Given the description of an element on the screen output the (x, y) to click on. 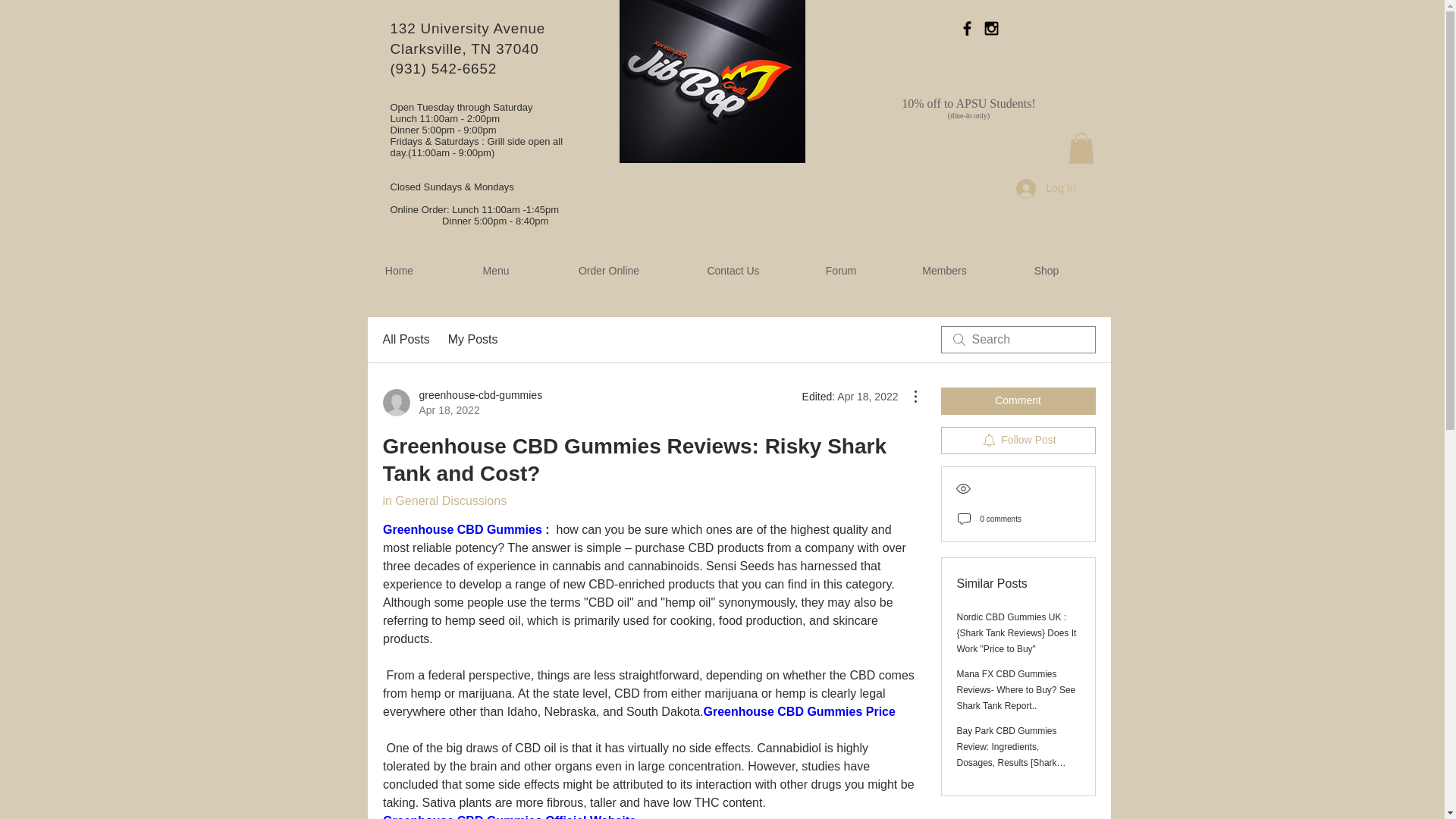
Log In (1046, 188)
Menu (494, 270)
Greenhouse CBD Gummies (461, 529)
Members (943, 270)
in General Discussions (443, 500)
Order Online (609, 270)
My Posts (461, 402)
Shop (472, 339)
132 University Avenue (1045, 270)
All Posts (467, 28)
Follow Post (405, 339)
Contact Us (1017, 440)
Greenhouse CBD Gummies Official Website (732, 270)
